Given the description of an element on the screen output the (x, y) to click on. 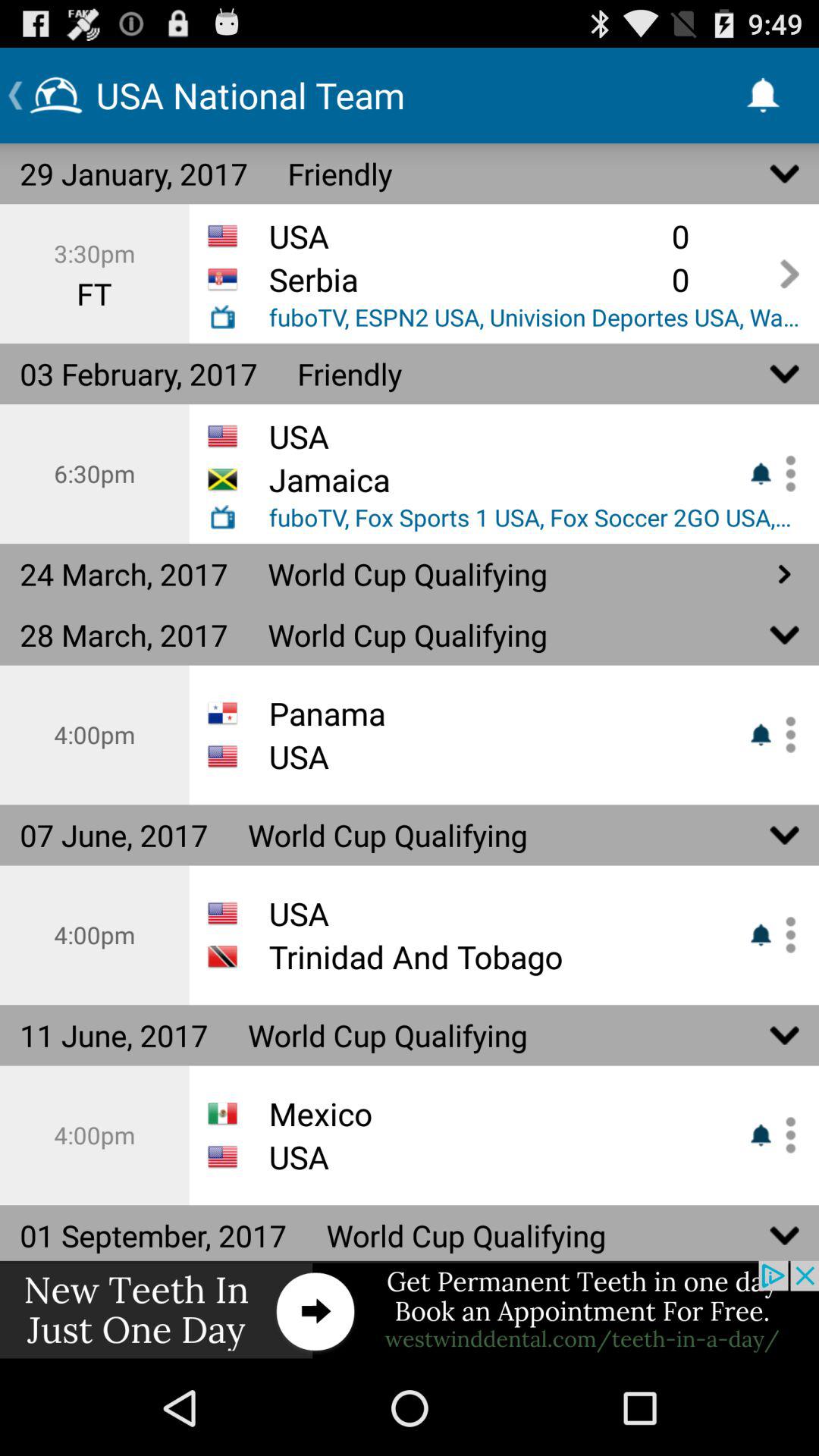
see more options (785, 1135)
